Given the description of an element on the screen output the (x, y) to click on. 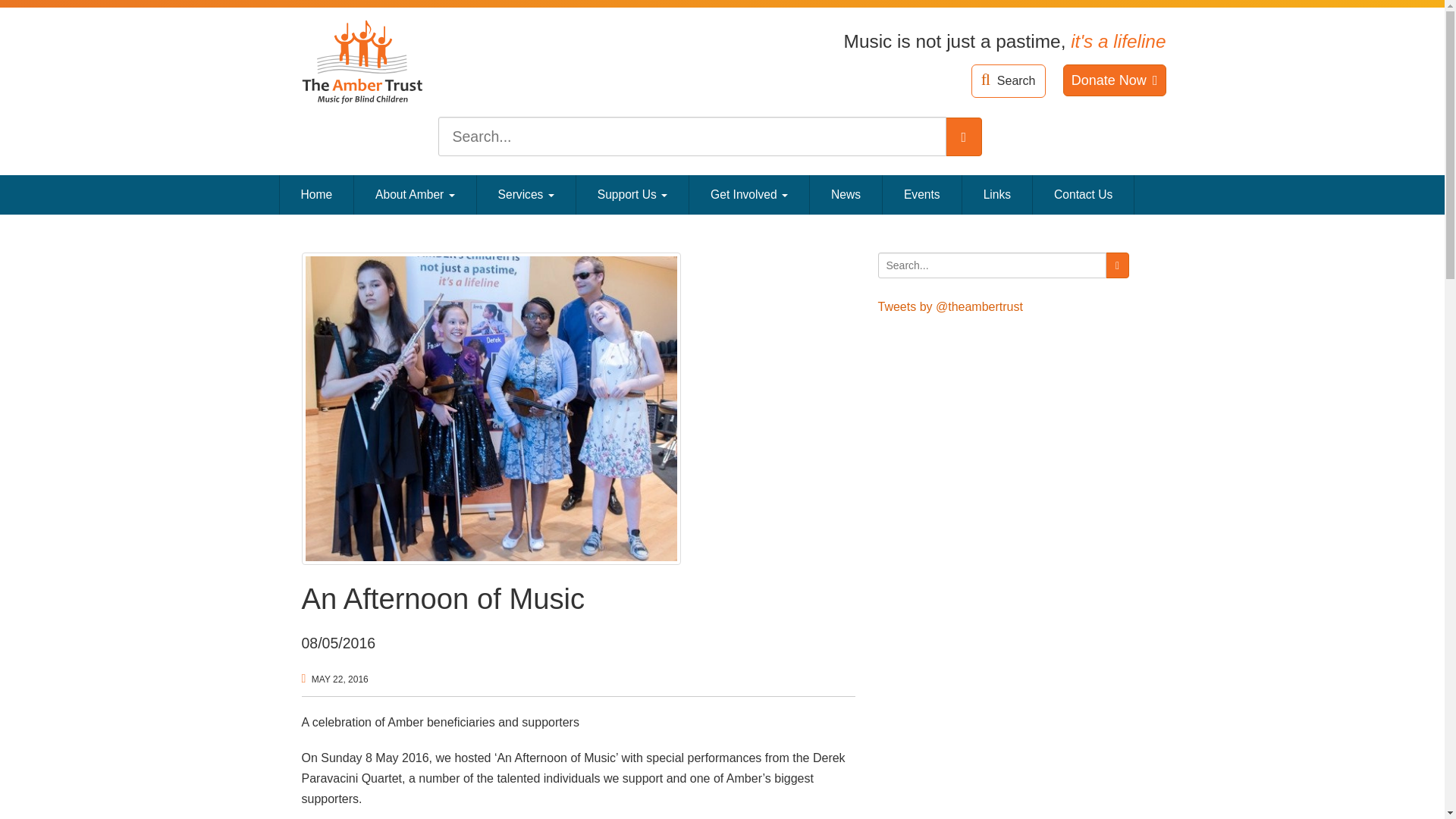
Services (526, 194)
Home (317, 194)
Services (526, 194)
Contact Us (1083, 194)
Get Involved (748, 194)
Donate Now (1114, 80)
Links (997, 194)
Amber Trust Logo (362, 64)
News (845, 194)
Support Us (632, 194)
